Given the description of an element on the screen output the (x, y) to click on. 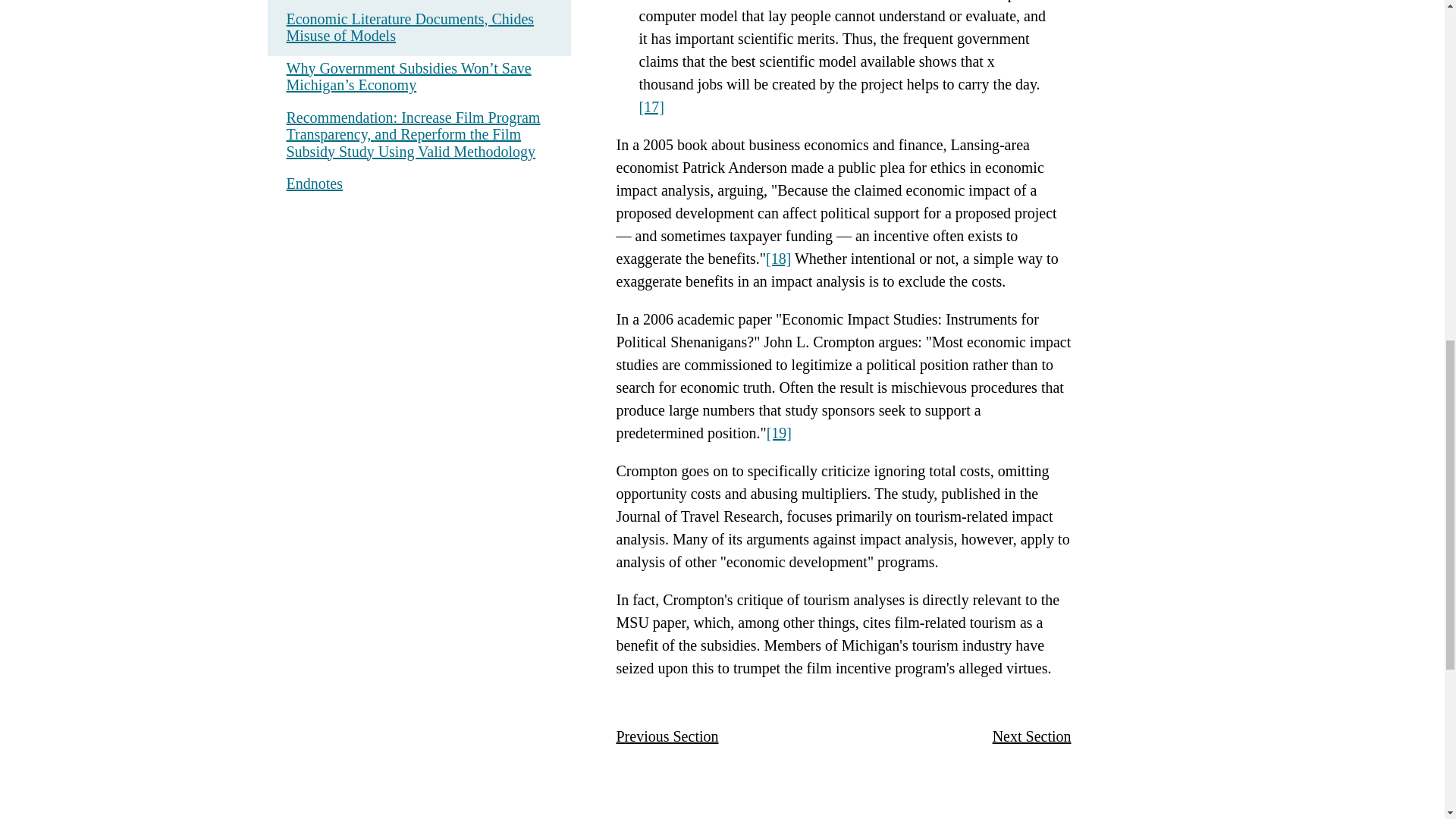
Endnotes (314, 183)
Previous Section (666, 735)
Next Section (1031, 735)
Economic Literature Documents, Chides Misuse of Models (418, 27)
